Given the description of an element on the screen output the (x, y) to click on. 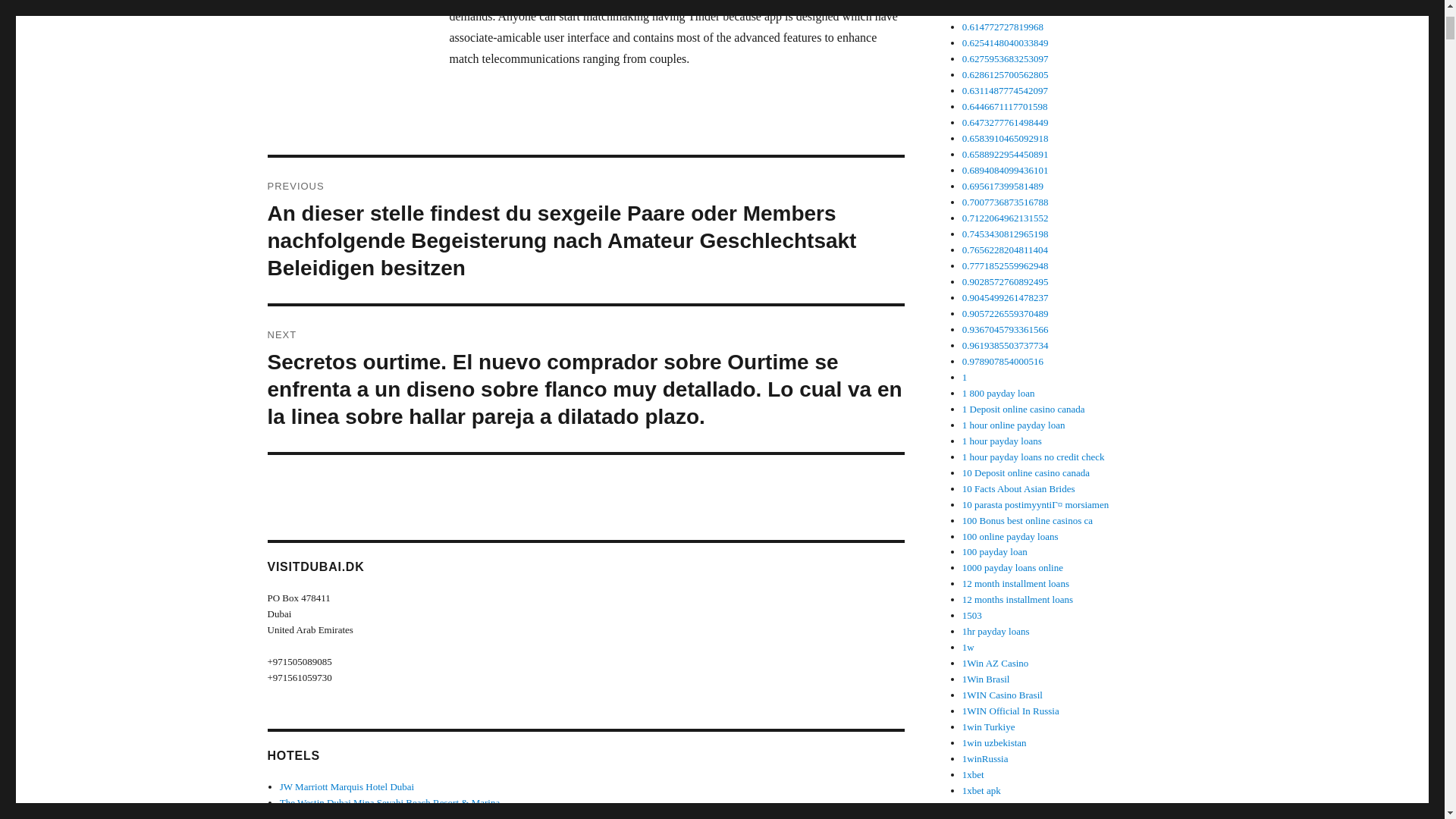
JW Marriott Marquis Hotel Dubai (346, 786)
Jumeirah Beach Hotel, Dubai (337, 816)
